Given the description of an element on the screen output the (x, y) to click on. 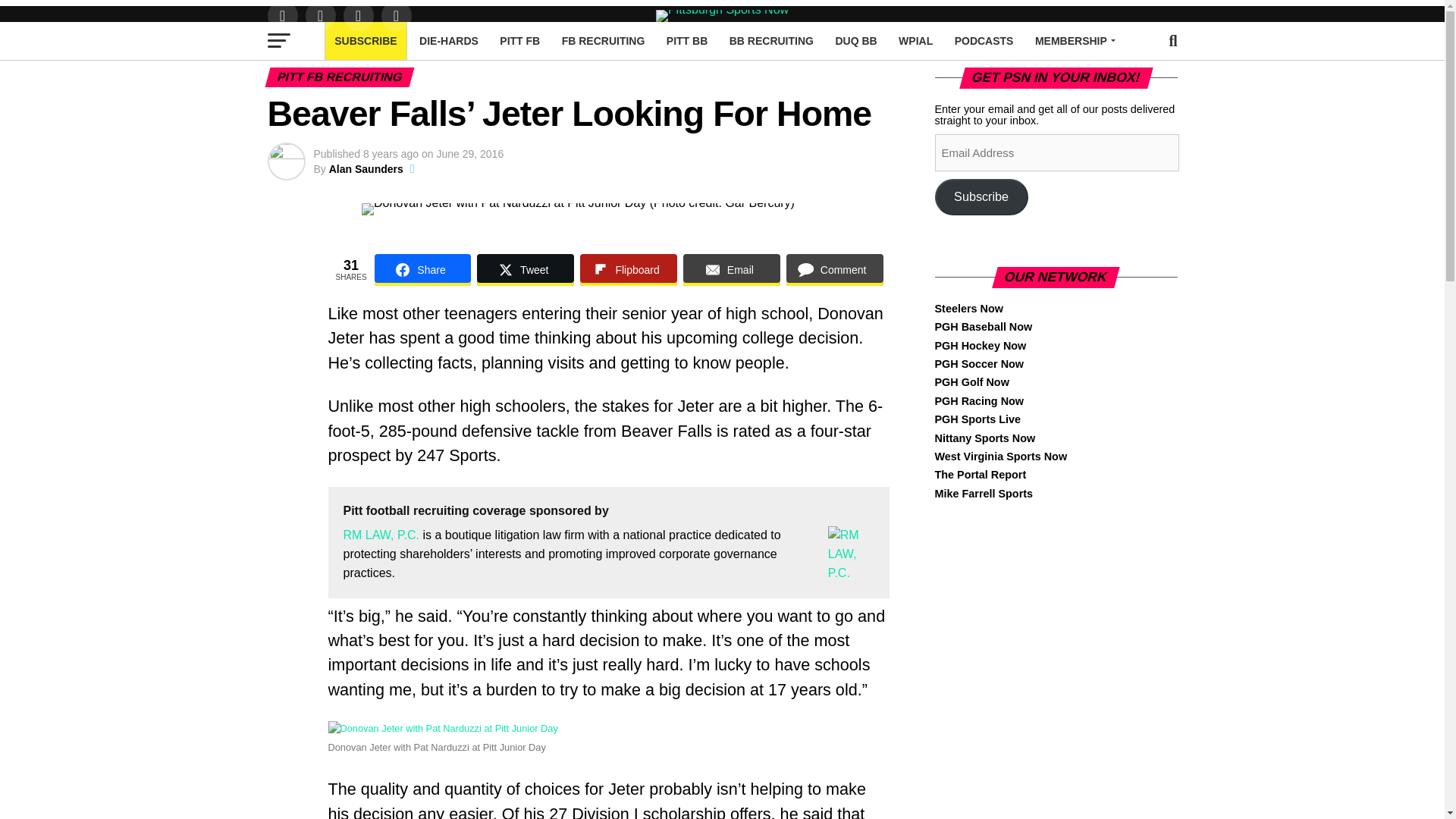
Posts by Alan Saunders (366, 168)
Share on Comment (834, 269)
Share on Tweet (525, 269)
Share on Email (731, 269)
Share on Flipboard (628, 269)
Share on Share (422, 269)
